Given the description of an element on the screen output the (x, y) to click on. 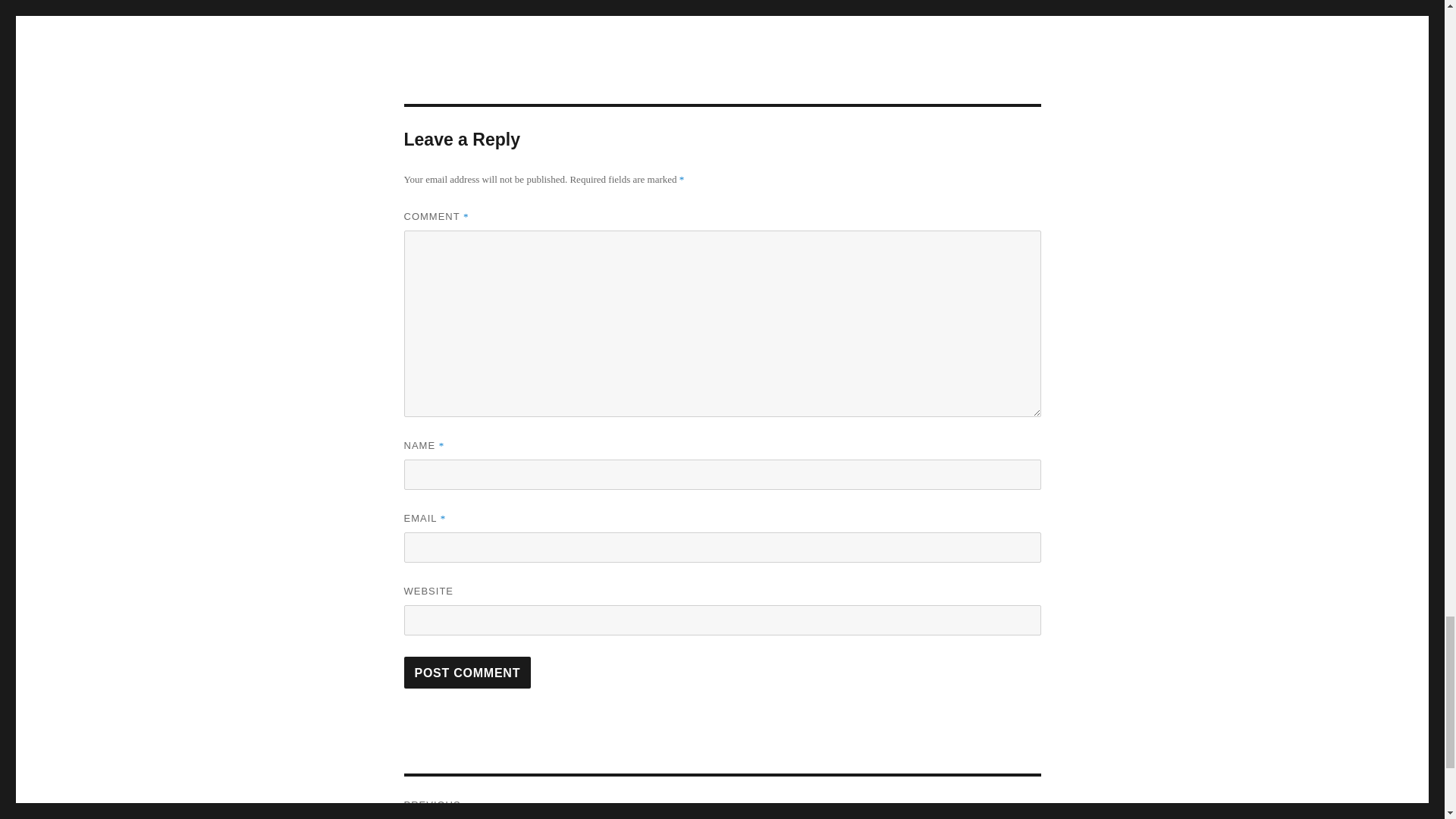
Post Comment (467, 672)
Post Comment (467, 672)
